Given the description of an element on the screen output the (x, y) to click on. 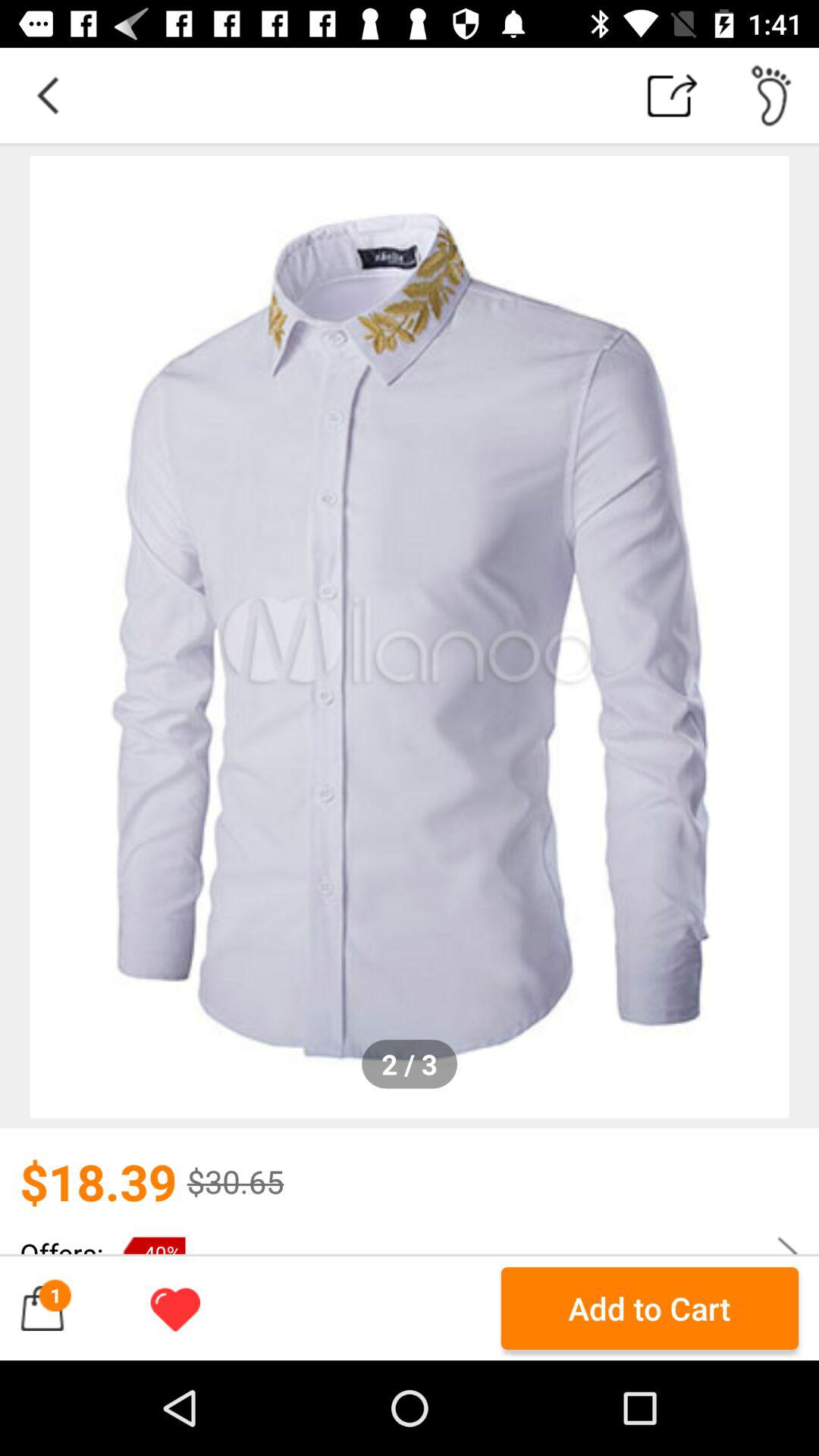
open the item at the top left corner (47, 95)
